Given the description of an element on the screen output the (x, y) to click on. 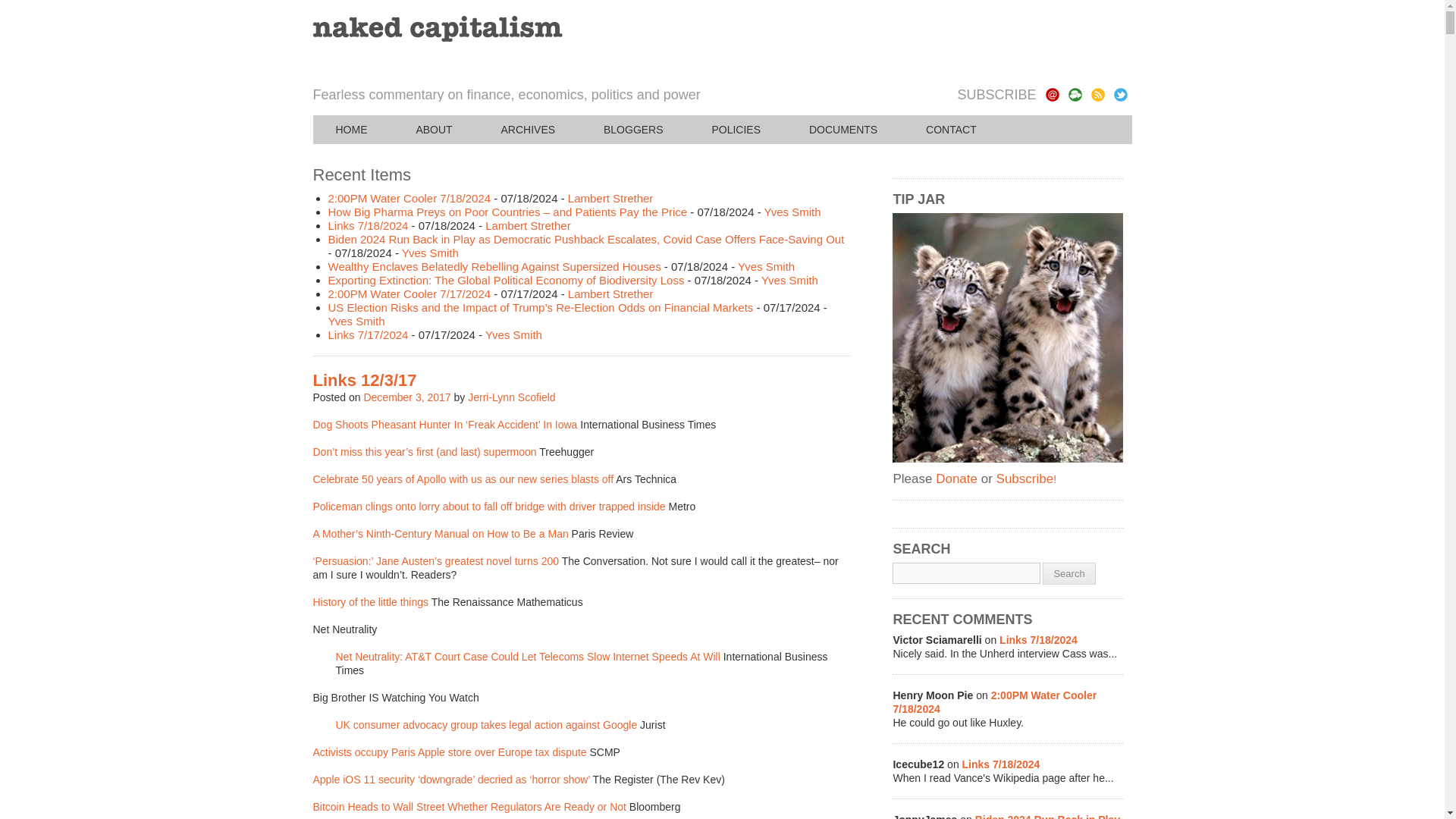
Lambert Strether (610, 197)
Lambert Strether (527, 225)
naked capitalism (437, 28)
Yves Smith (792, 211)
Yves Smith (789, 279)
Subscribe to comments via RSS feed (1074, 94)
Subscribe to posts via Email (1051, 94)
Feedburner RSS Feed (1096, 94)
ABOUT (433, 129)
Lambert Strether (610, 293)
HOME (351, 129)
DOCUMENTS (842, 129)
